Given the description of an element on the screen output the (x, y) to click on. 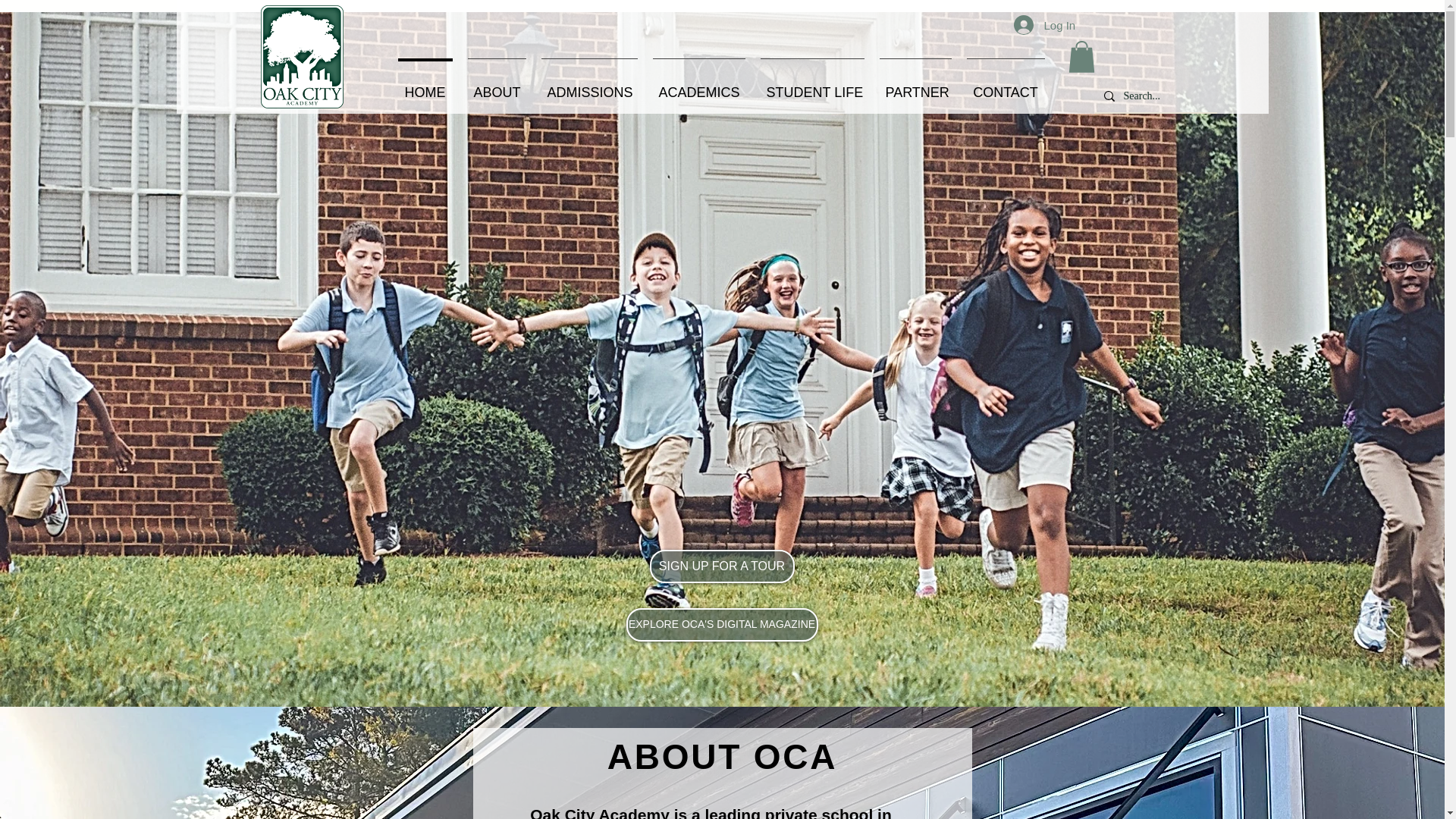
ABOUT (496, 85)
PARTNER (915, 85)
HOME (425, 85)
ADMISSIONS (589, 85)
STUDENT LIFE (811, 85)
ACADEMICS (698, 85)
